Given the description of an element on the screen output the (x, y) to click on. 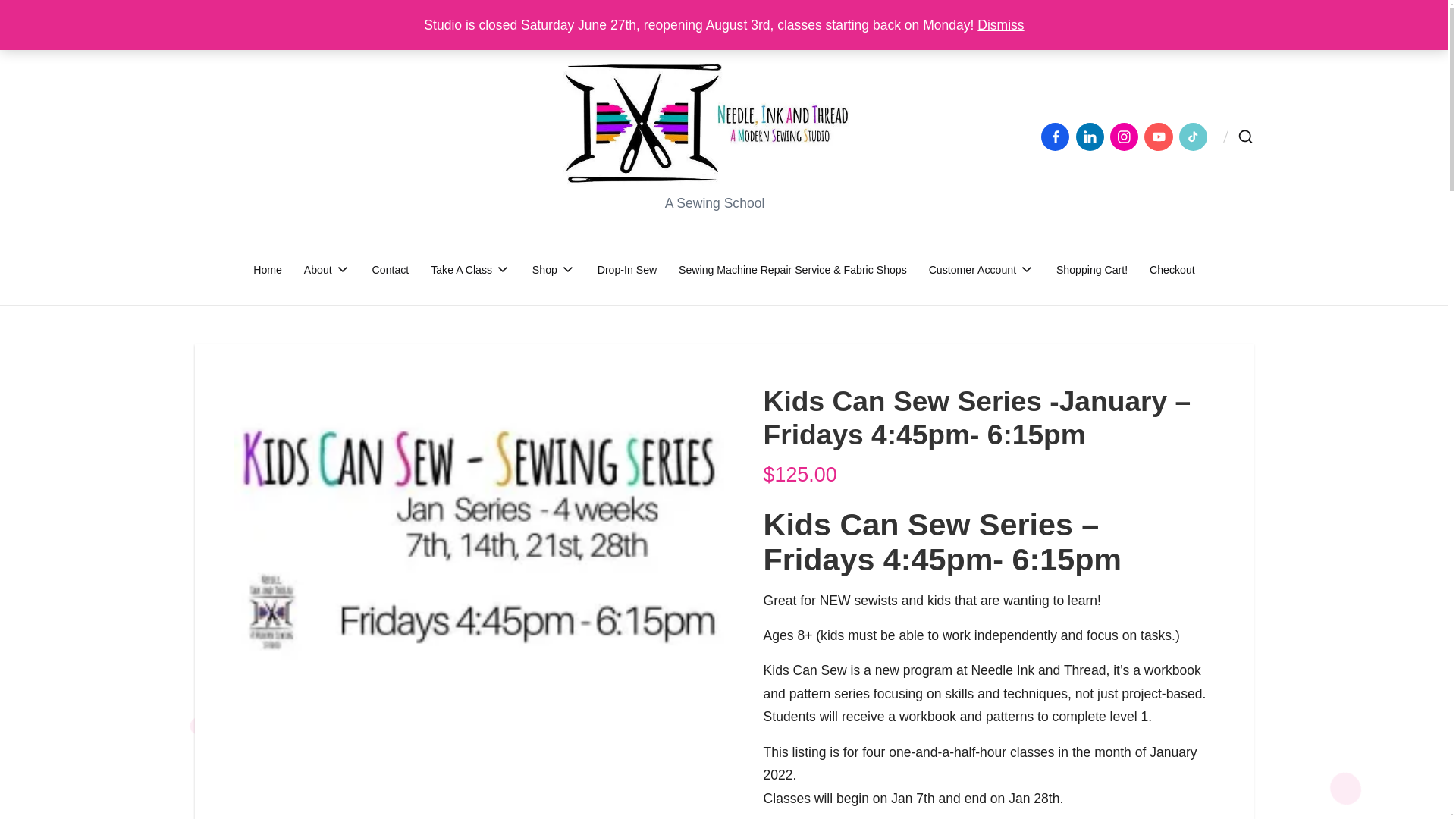
Instagram (1126, 136)
Facebook (1058, 136)
Linkedin (1092, 136)
Shop (553, 269)
Drop-In Sew (627, 269)
Home (267, 269)
Take A Class (470, 269)
TikTok (1195, 136)
About (327, 269)
Contact (390, 269)
Youtube (1160, 136)
